Given the description of an element on the screen output the (x, y) to click on. 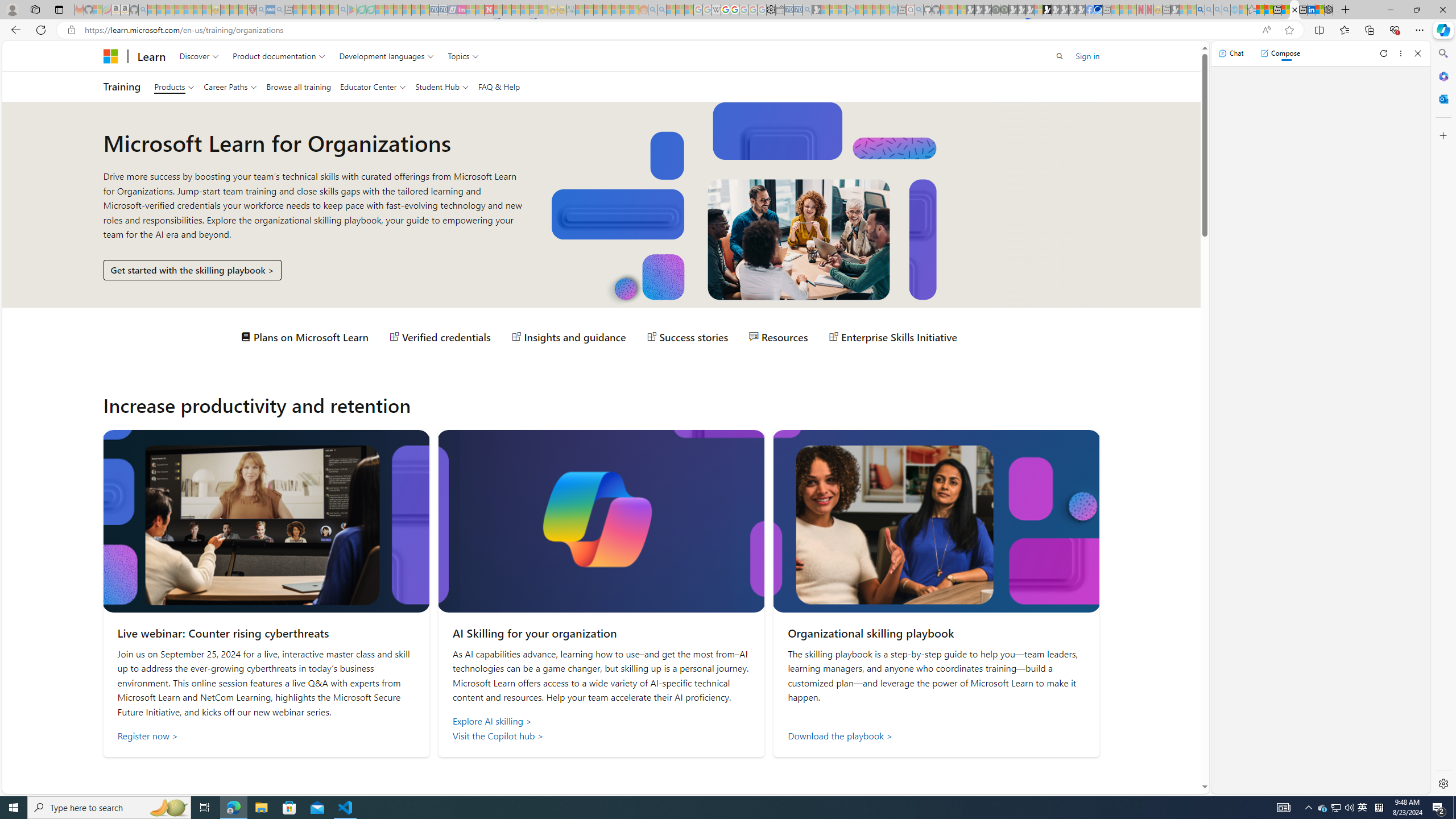
Topics (462, 55)
AQI & Health | AirNow.gov (1098, 9)
Download the playbook > (936, 735)
Sign in (1087, 55)
Target page - Wikipedia - Sleeping (716, 9)
Microsoft Start Gaming - Sleeping (815, 9)
Pets - MSN - Sleeping (324, 9)
